Given the description of an element on the screen output the (x, y) to click on. 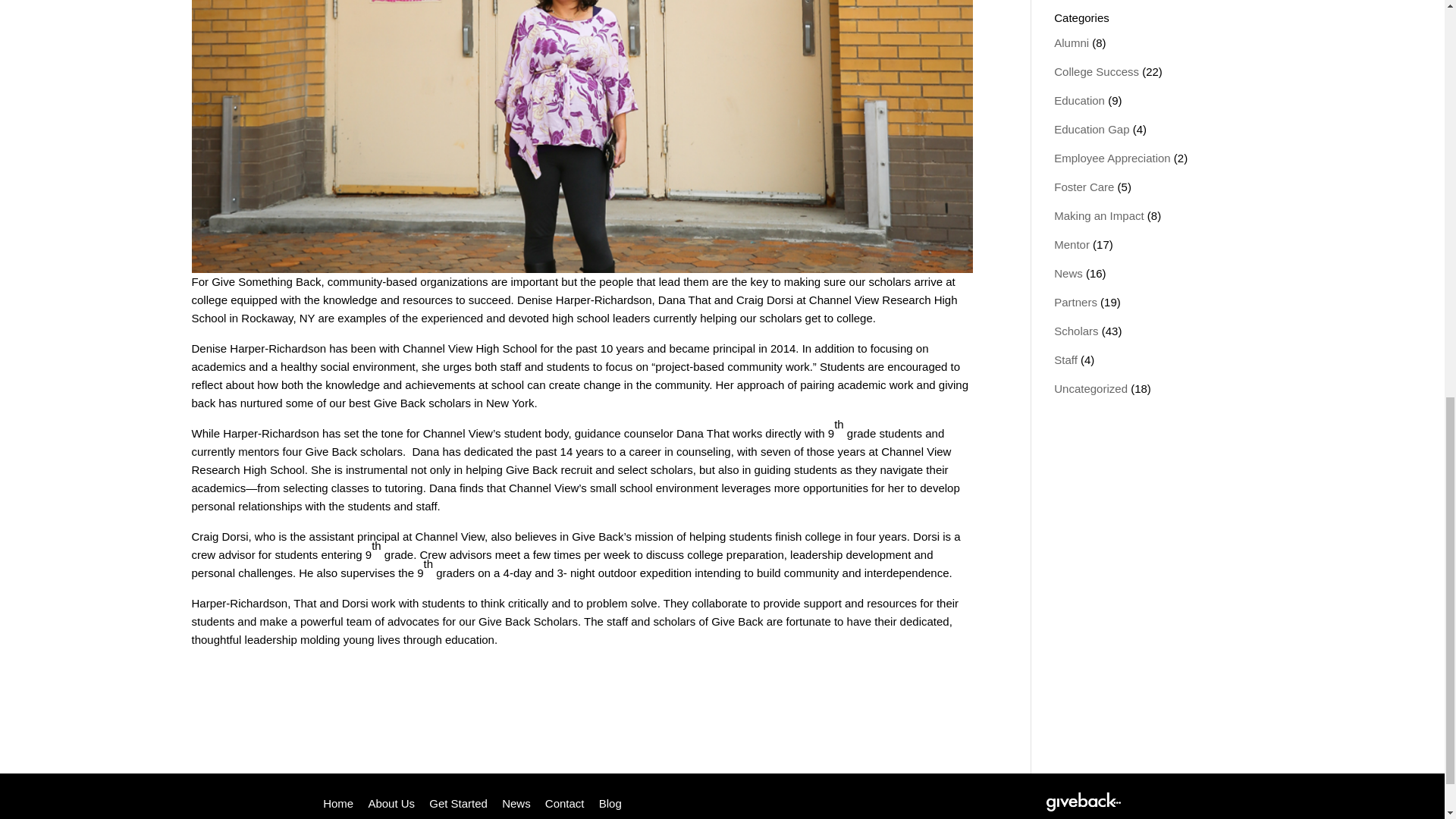
Employee Appreciation (1112, 157)
Alumni (1071, 42)
Education (1079, 100)
College Success (1096, 71)
Making an Impact (1098, 215)
Education Gap (1091, 128)
Foster Care (1083, 186)
